Given the description of an element on the screen output the (x, y) to click on. 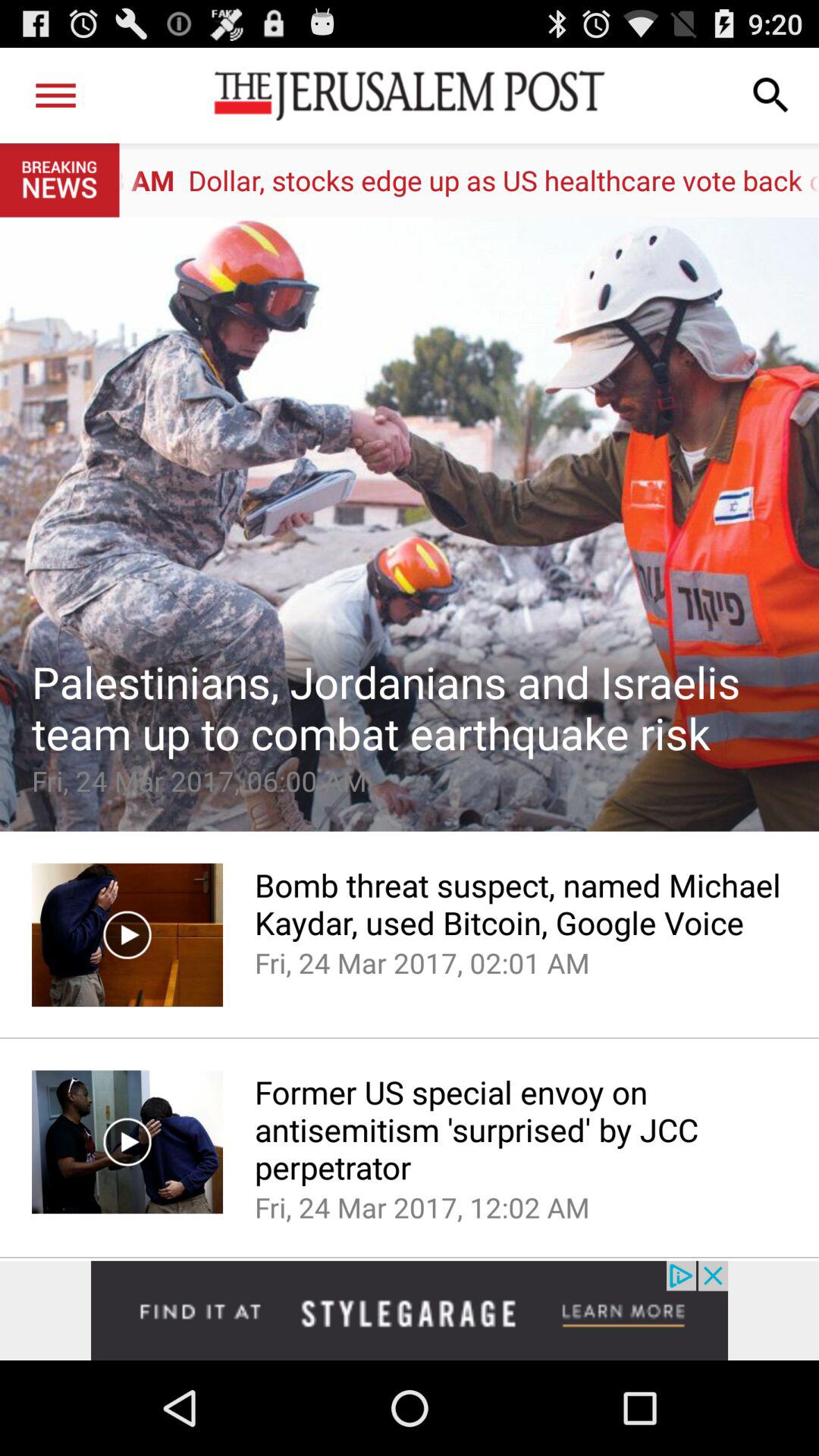
view advertisement (409, 1310)
